Given the description of an element on the screen output the (x, y) to click on. 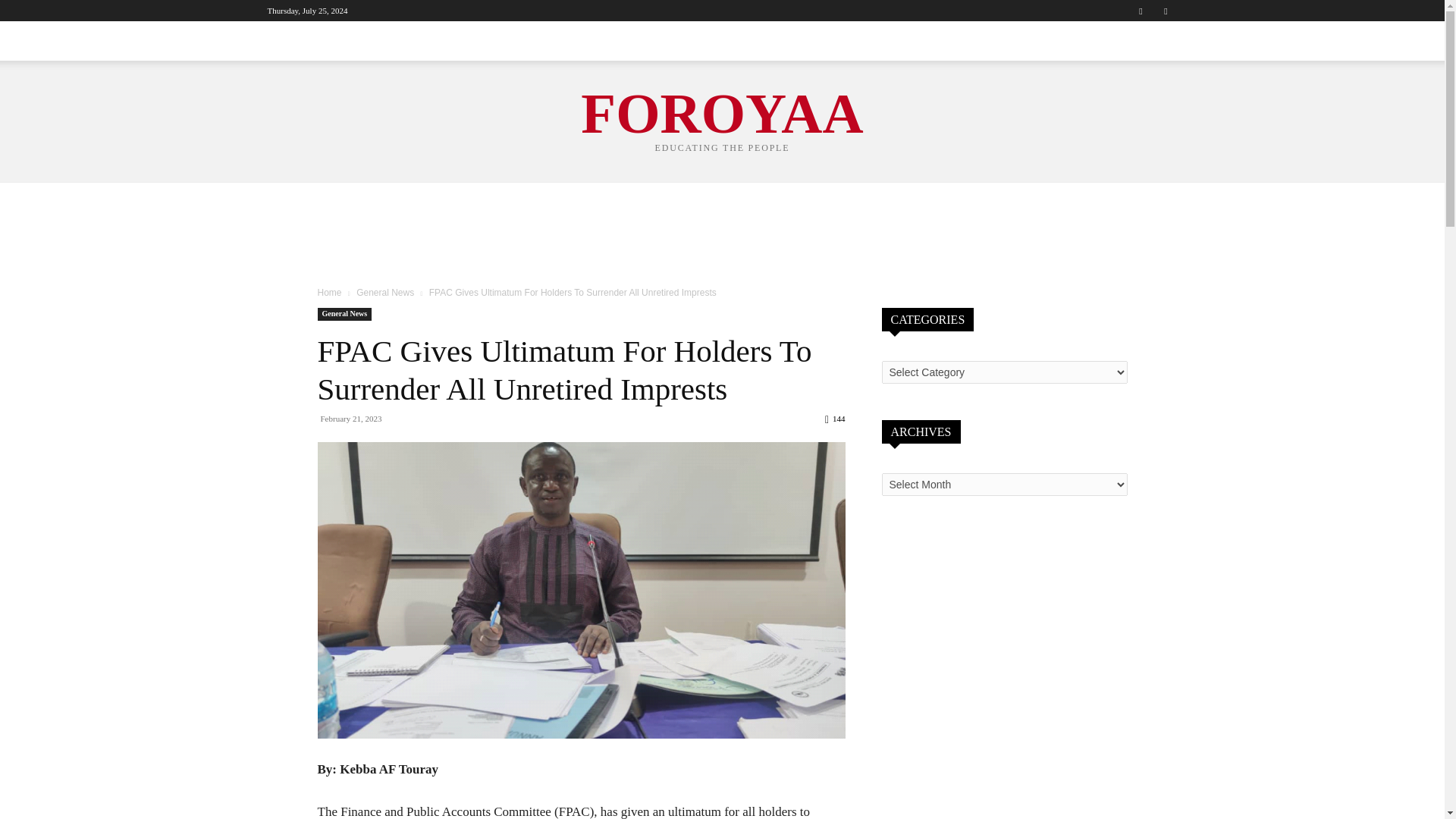
Facebook (1140, 10)
Twitter (1165, 10)
ALL NEWS (302, 40)
